Given the description of an element on the screen output the (x, y) to click on. 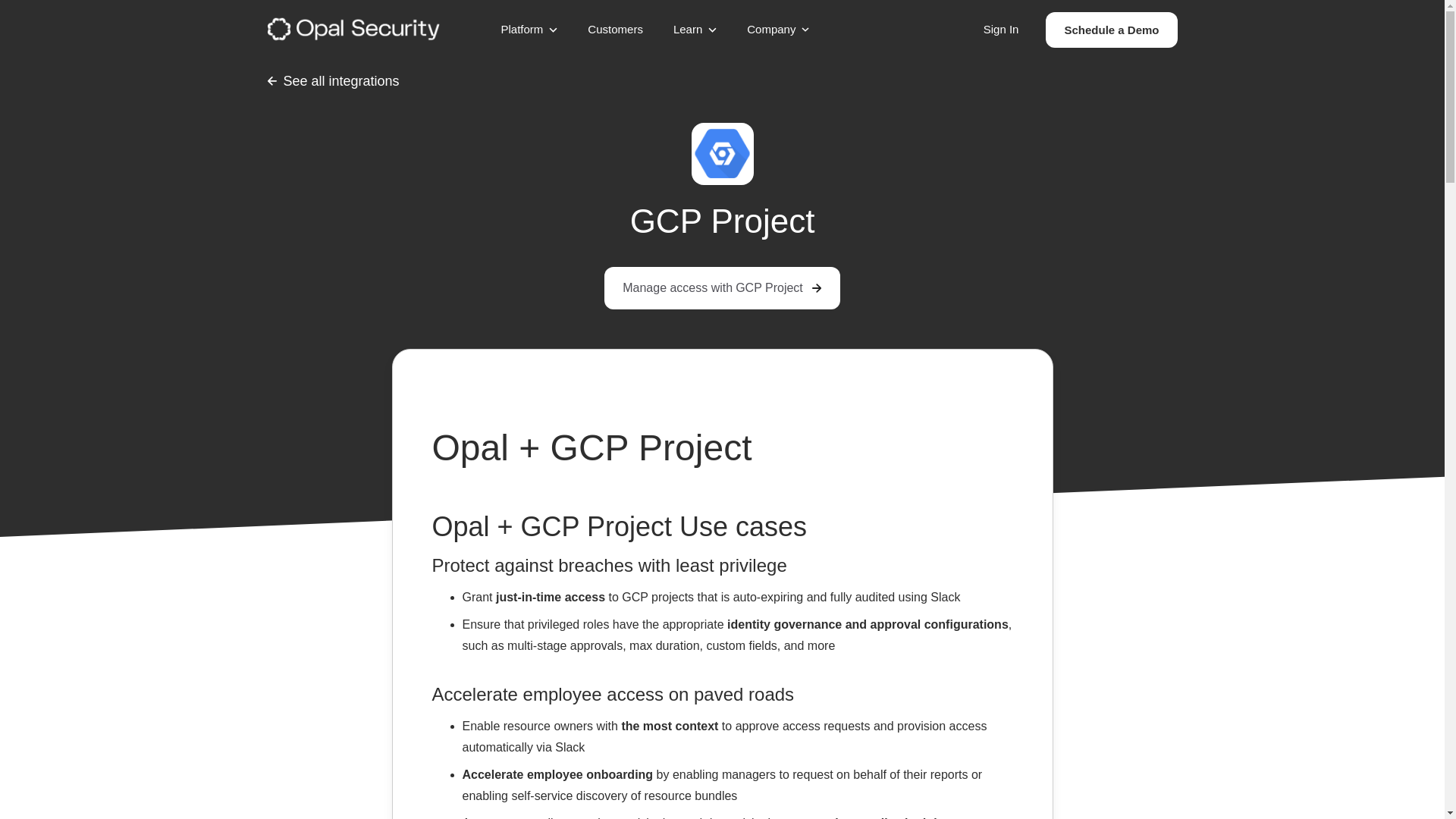
See all integrations (332, 80)
Sign In (722, 287)
Schedule a Demo (1000, 29)
Customers (1110, 29)
